Given the description of an element on the screen output the (x, y) to click on. 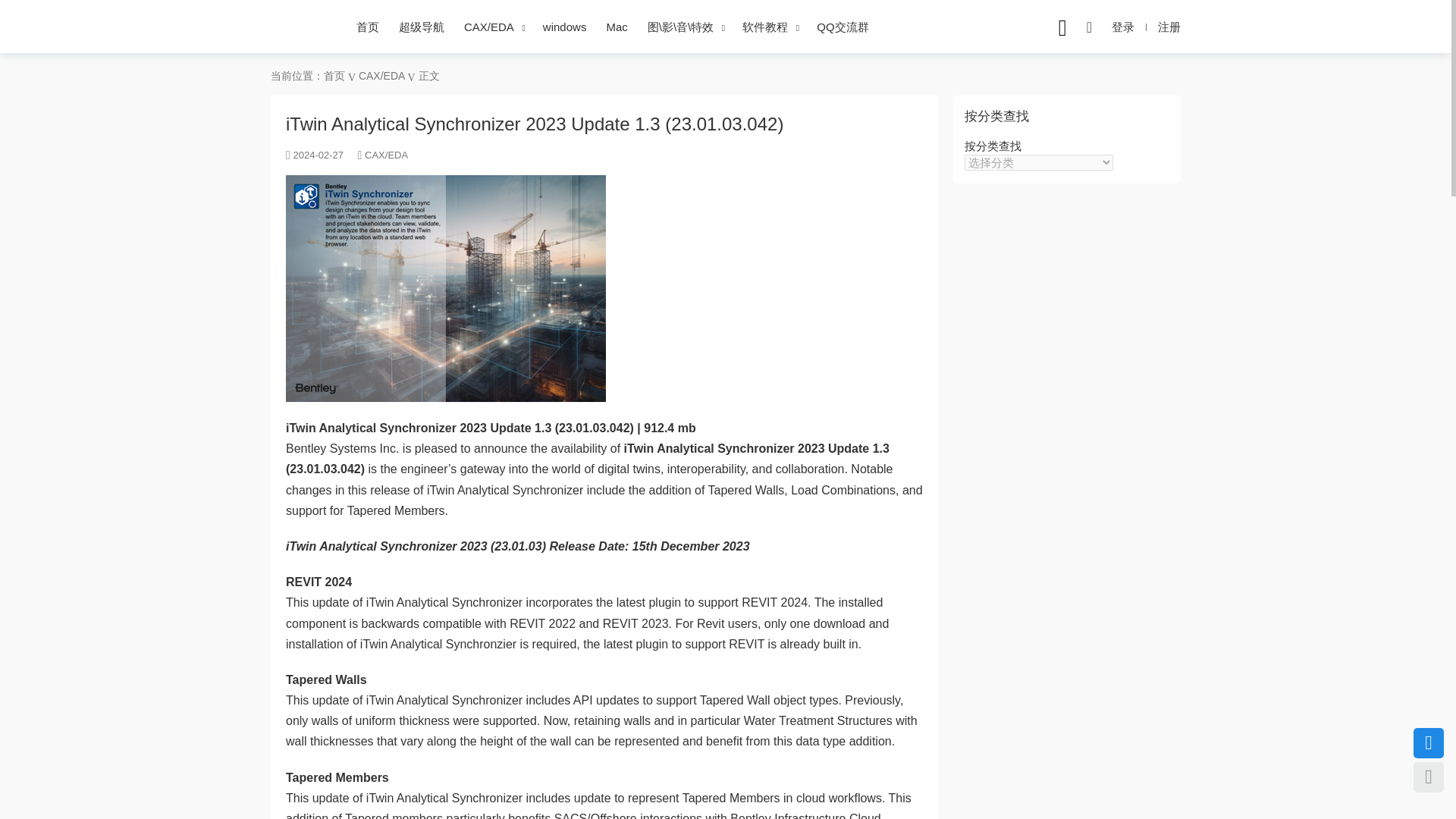
windows (564, 27)
